Given the description of an element on the screen output the (x, y) to click on. 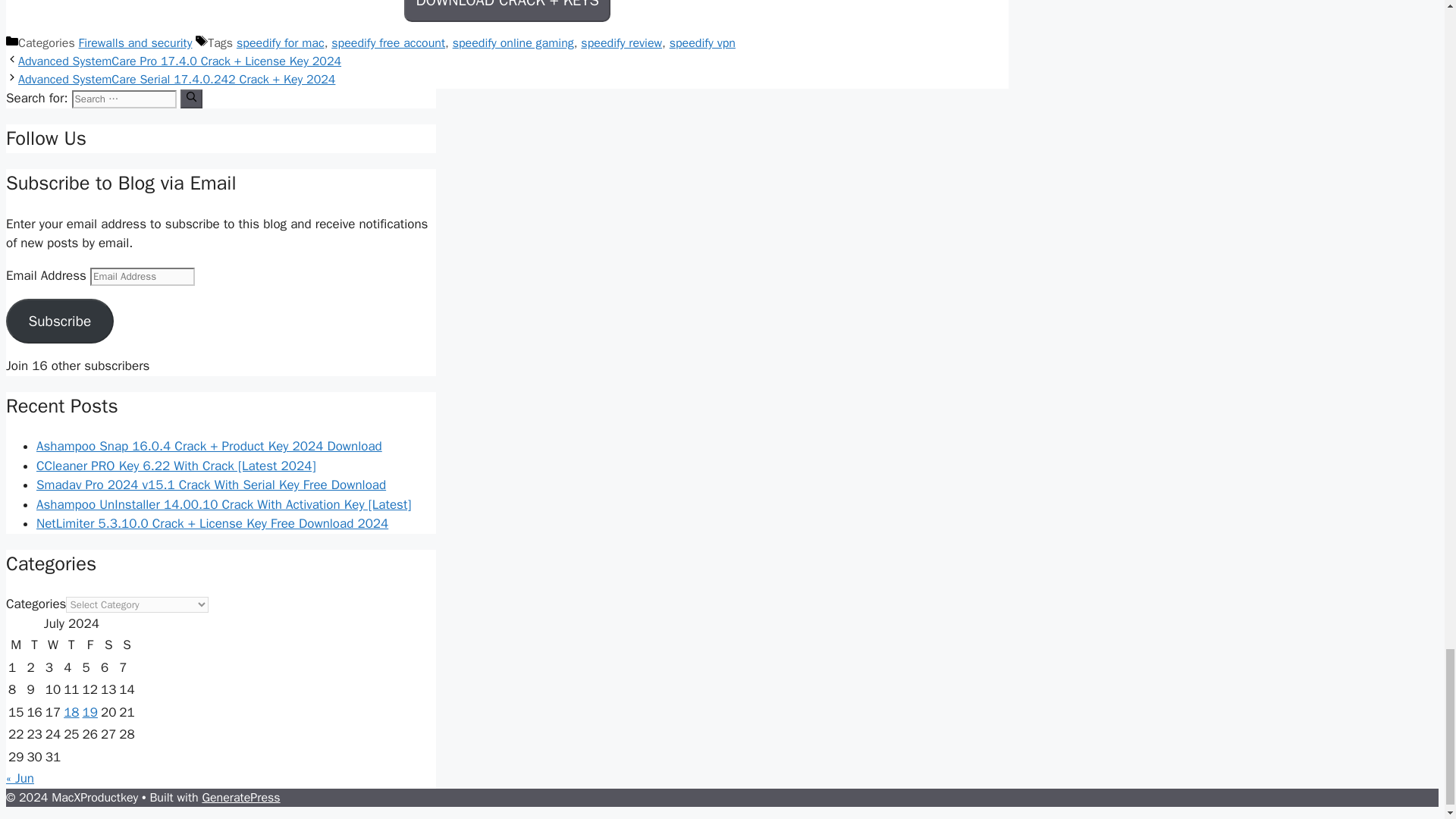
speedify vpn (702, 43)
speedify review (621, 43)
speedify for mac (279, 43)
speedify free account (388, 43)
Firewalls and security (135, 43)
speedify online gaming (512, 43)
